Given the description of an element on the screen output the (x, y) to click on. 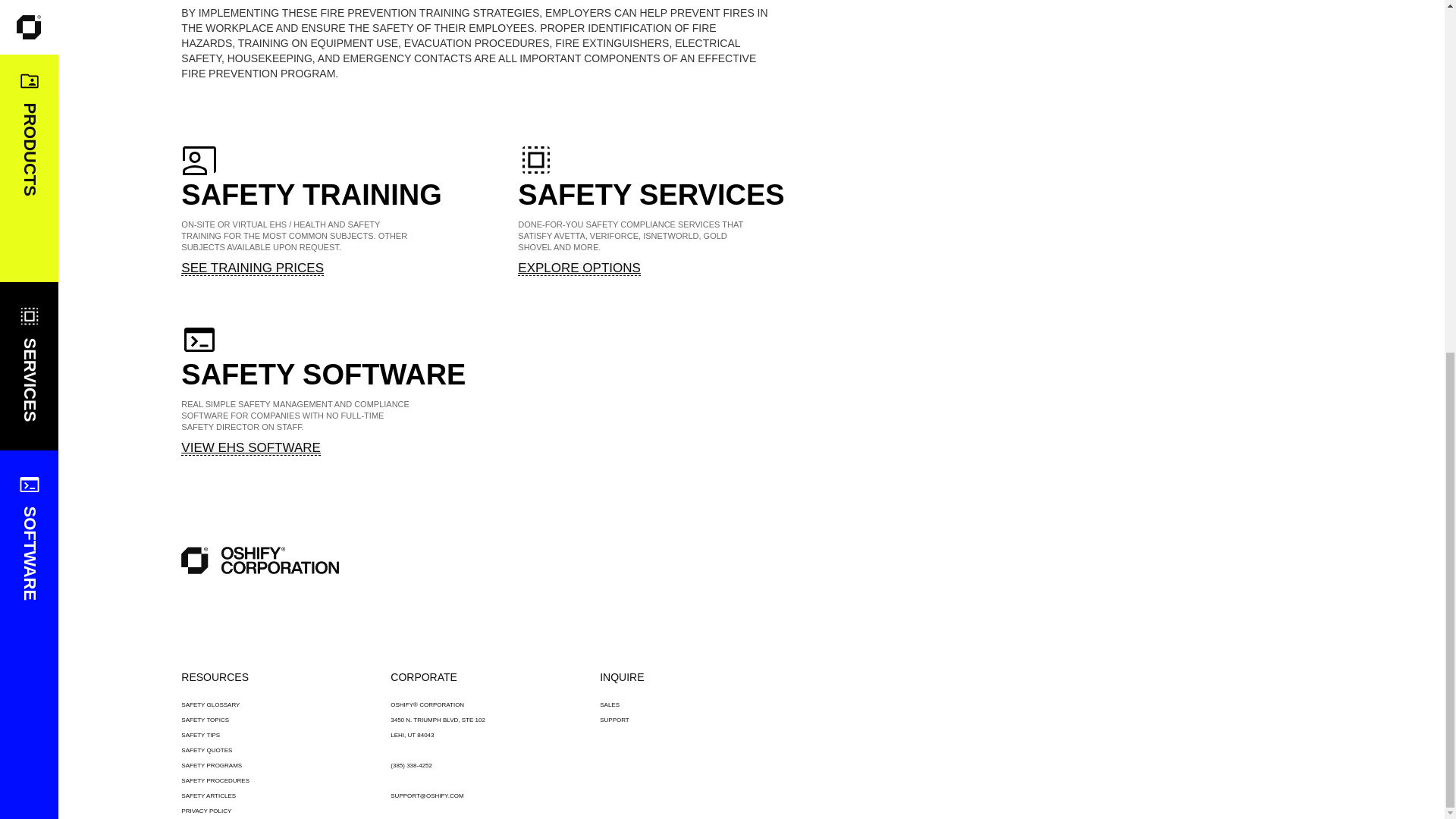
SAFETY GLOSSARY (210, 704)
SAFETY ARTICLES (207, 795)
SAFETY TIPS (199, 735)
SEE TRAINING PRICES (251, 268)
SAFETY PROGRAMS (210, 765)
SAFETY PROCEDURES (214, 780)
SALES (609, 704)
VIEW EHS SOFTWARE (250, 447)
SUPPORT (613, 719)
EXPLORE OPTIONS (579, 268)
PRIVACY POLICY (205, 810)
SAFETY QUOTES (205, 749)
SAFETY TOPICS (204, 719)
